Given the description of an element on the screen output the (x, y) to click on. 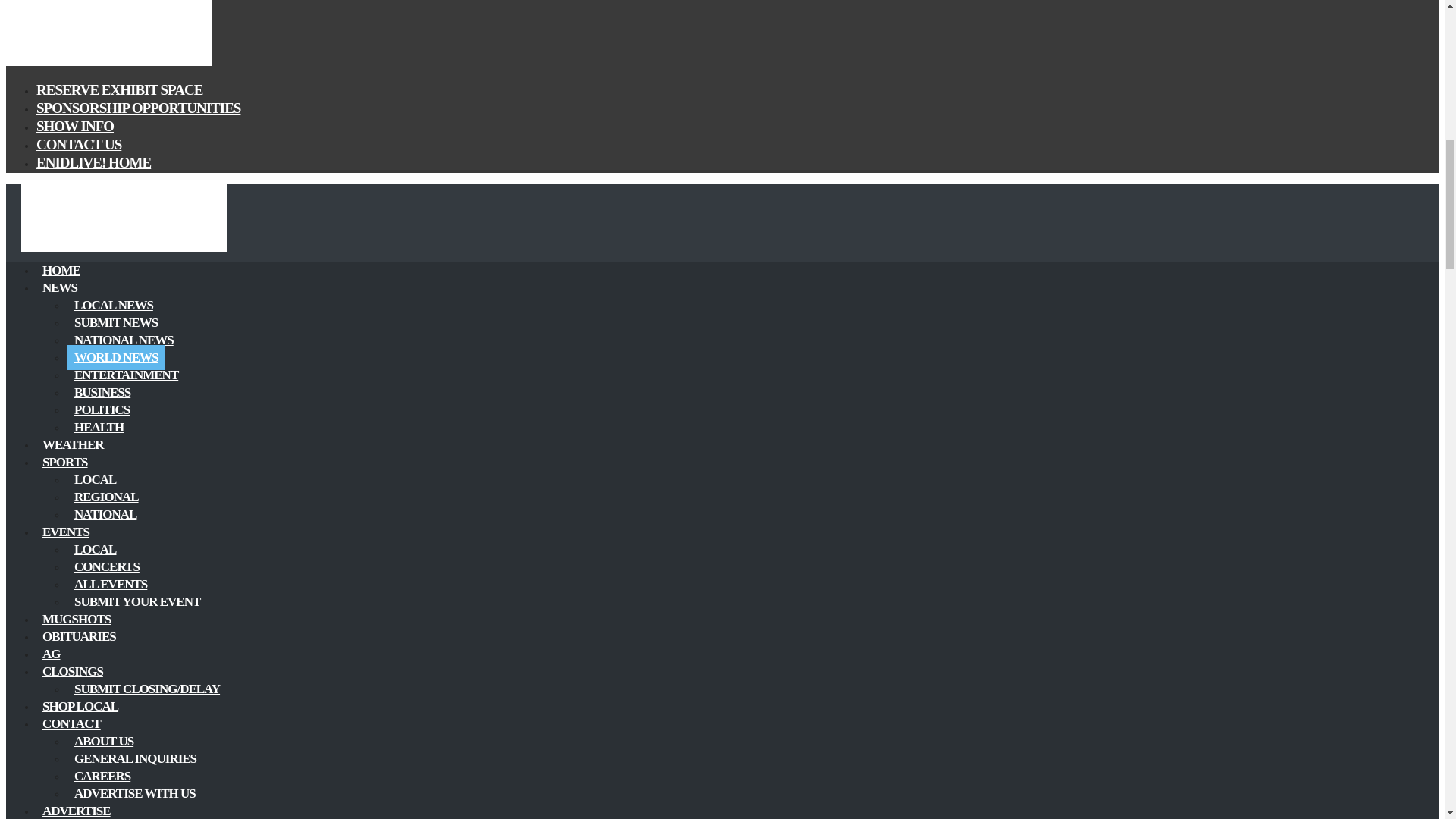
EnidLIVE! (108, 61)
